Given the description of an element on the screen output the (x, y) to click on. 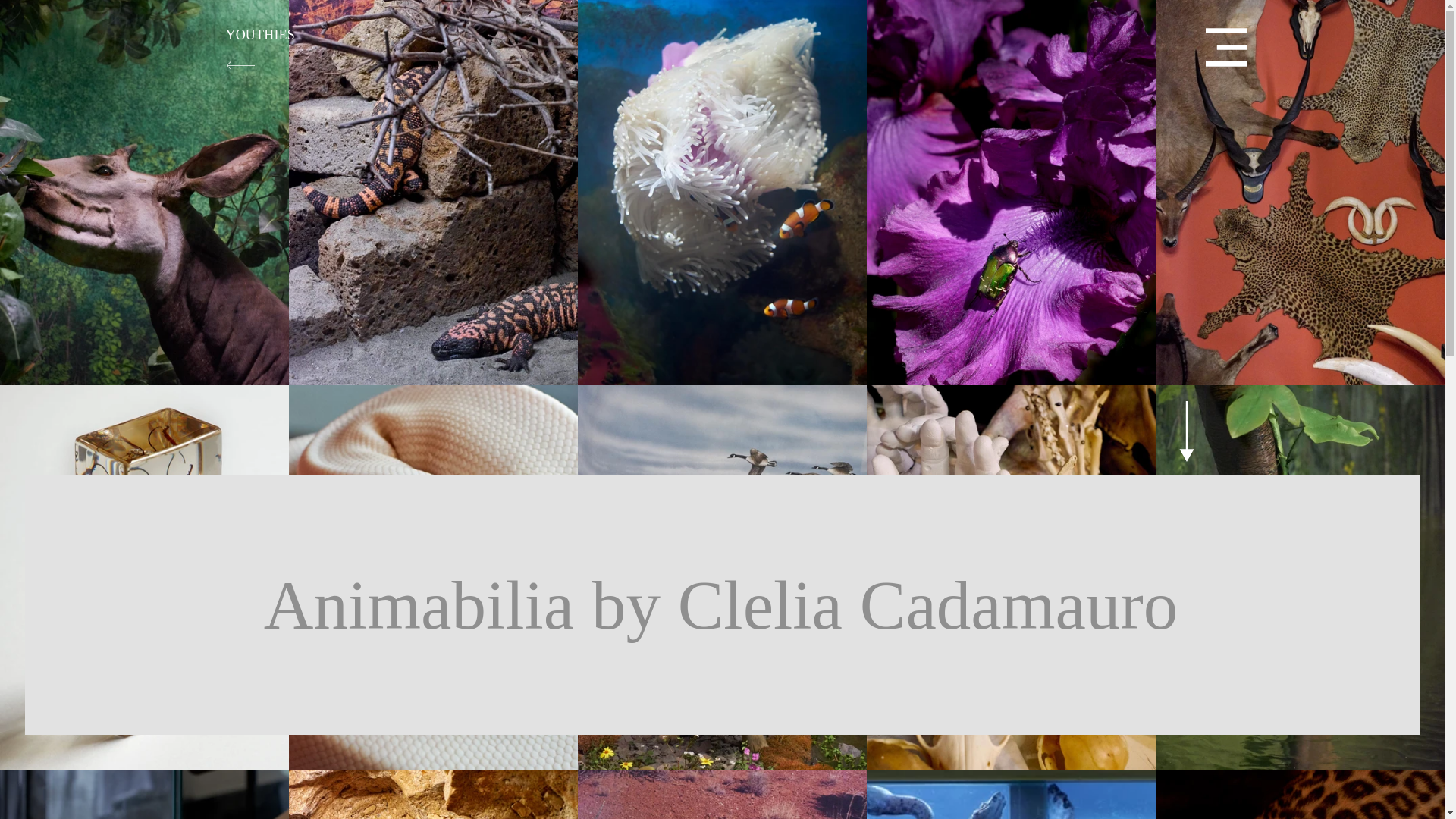
YOUTHIES (260, 34)
